Given the description of an element on the screen output the (x, y) to click on. 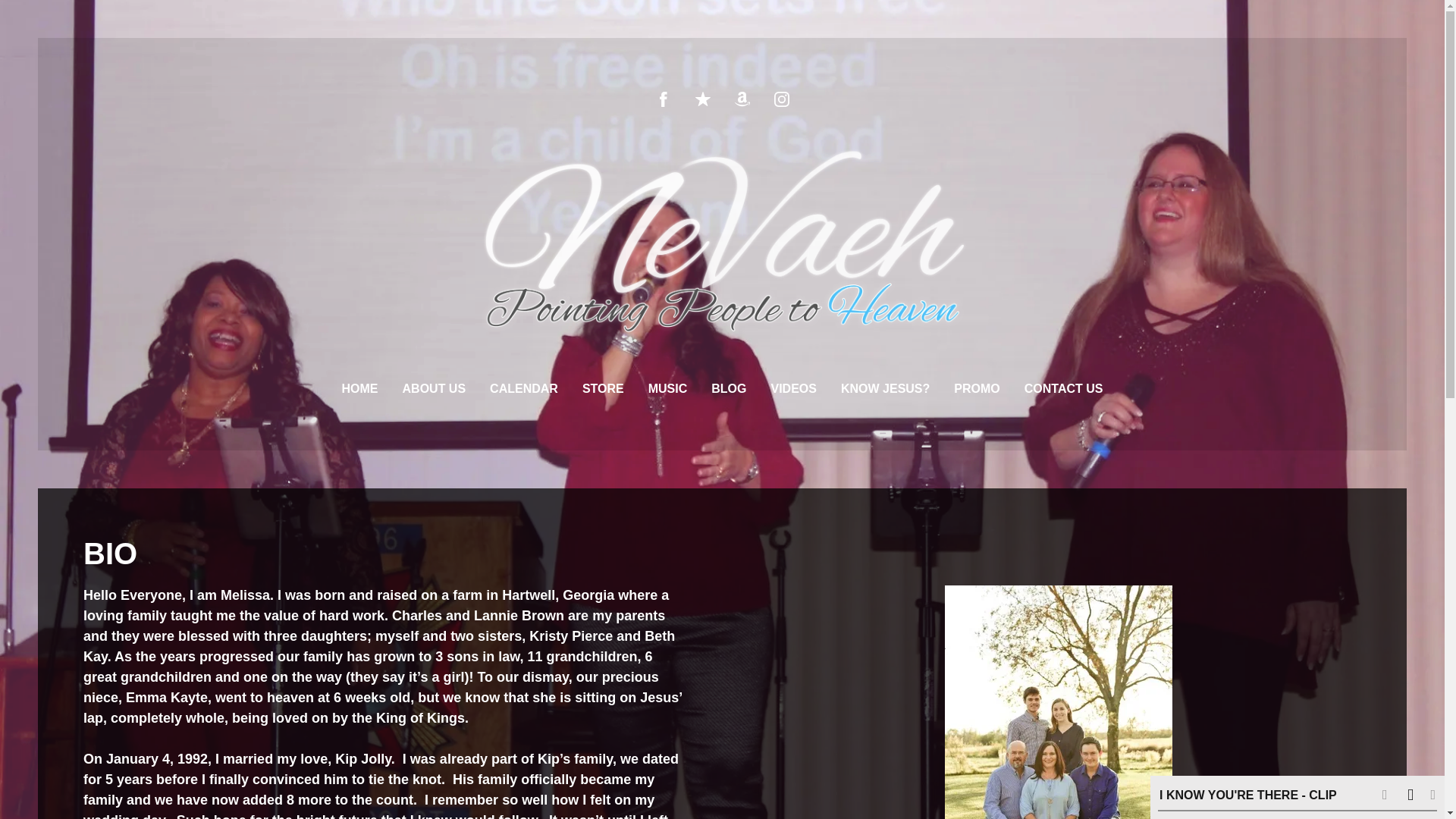
CONTACT US (1064, 389)
VIDEOS (792, 389)
ABOUT US (434, 389)
MUSIC (667, 389)
CALENDAR (523, 389)
KNOW JESUS? (885, 389)
STORE (603, 389)
BLOG (728, 389)
HOME (360, 389)
PROMO (975, 389)
